Given the description of an element on the screen output the (x, y) to click on. 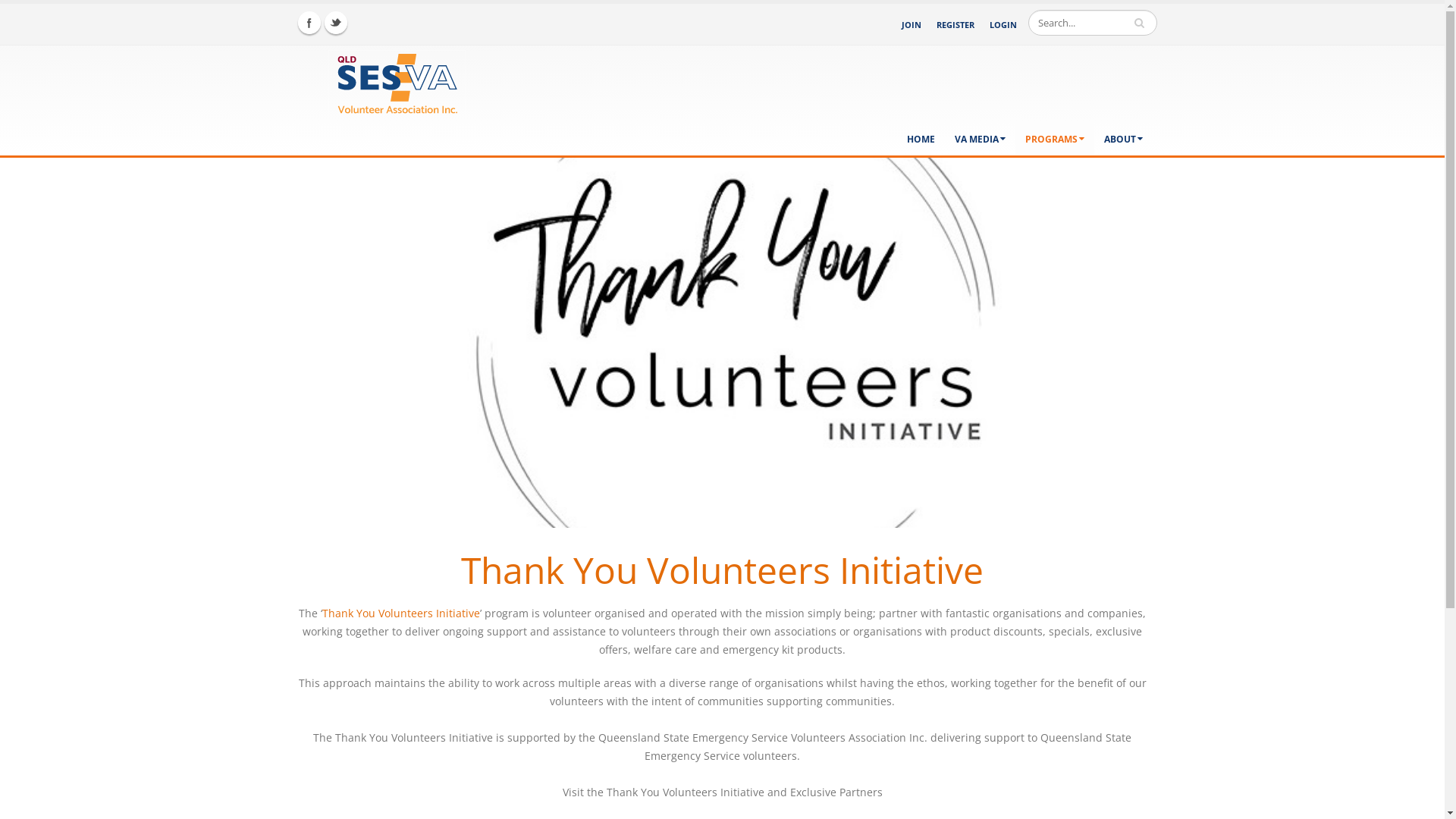
REGISTER Element type: text (954, 23)
PROGRAMS Element type: text (1053, 137)
ABOUT Element type: text (1122, 137)
  Element type: text (1140, 22)
Twitter Element type: text (335, 22)
JOIN Element type: text (910, 24)
VA MEDIA Element type: text (979, 137)
Facebook Element type: text (308, 22)
LOGIN Element type: text (1002, 24)
HOME Element type: text (920, 137)
QLD SES VA Element type: hover (376, 80)
